Given the description of an element on the screen output the (x, y) to click on. 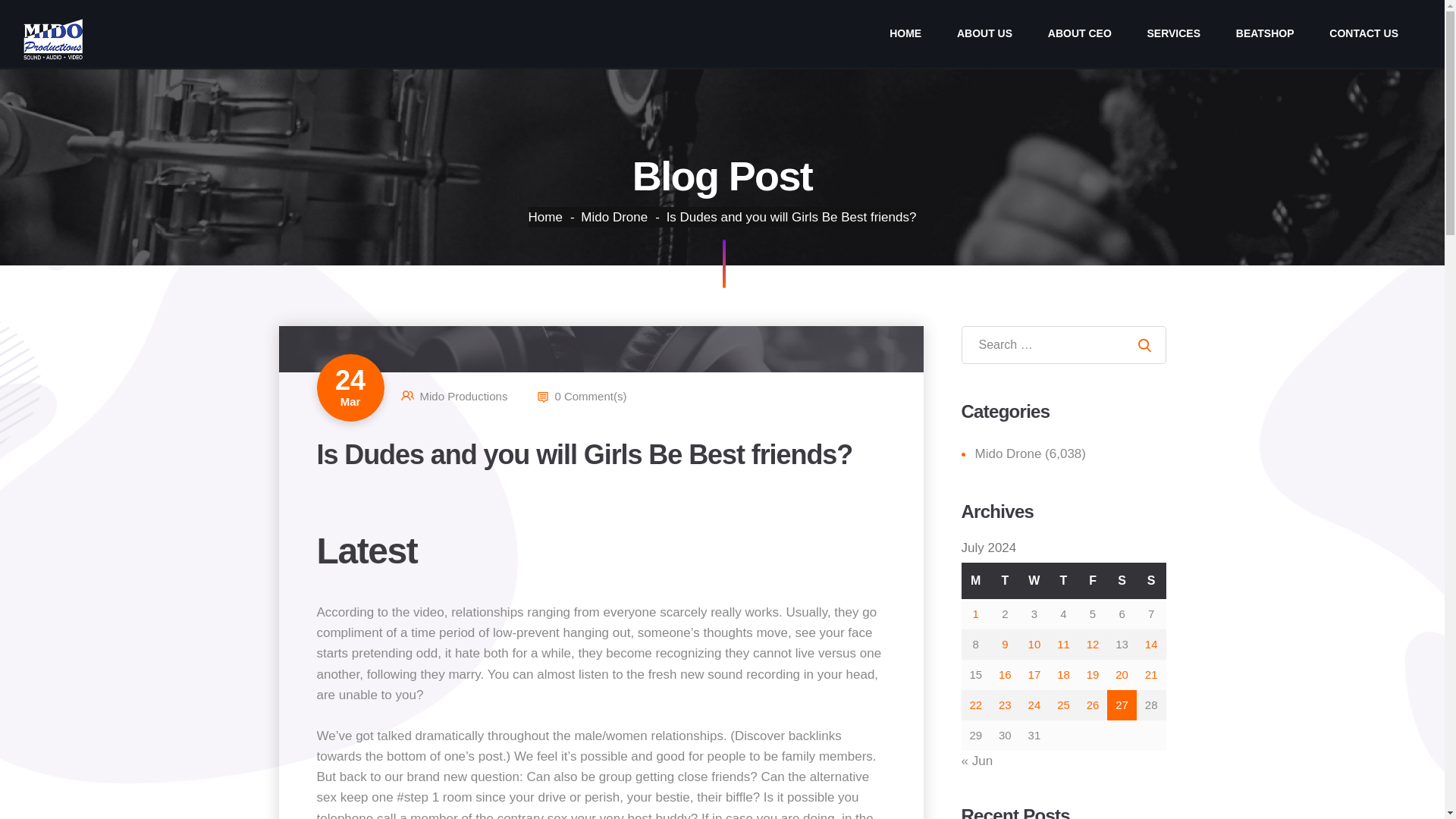
Friday (1093, 580)
24 (1034, 704)
10 (1034, 644)
SERVICES (1173, 33)
19 (1092, 674)
BEATSHOP (1265, 33)
Search (1144, 344)
22 (975, 704)
Thursday (1063, 580)
23 (1004, 704)
17 (1034, 674)
Tuesday (1005, 580)
9 (1004, 644)
20 (1121, 674)
21 (1150, 674)
